Given the description of an element on the screen output the (x, y) to click on. 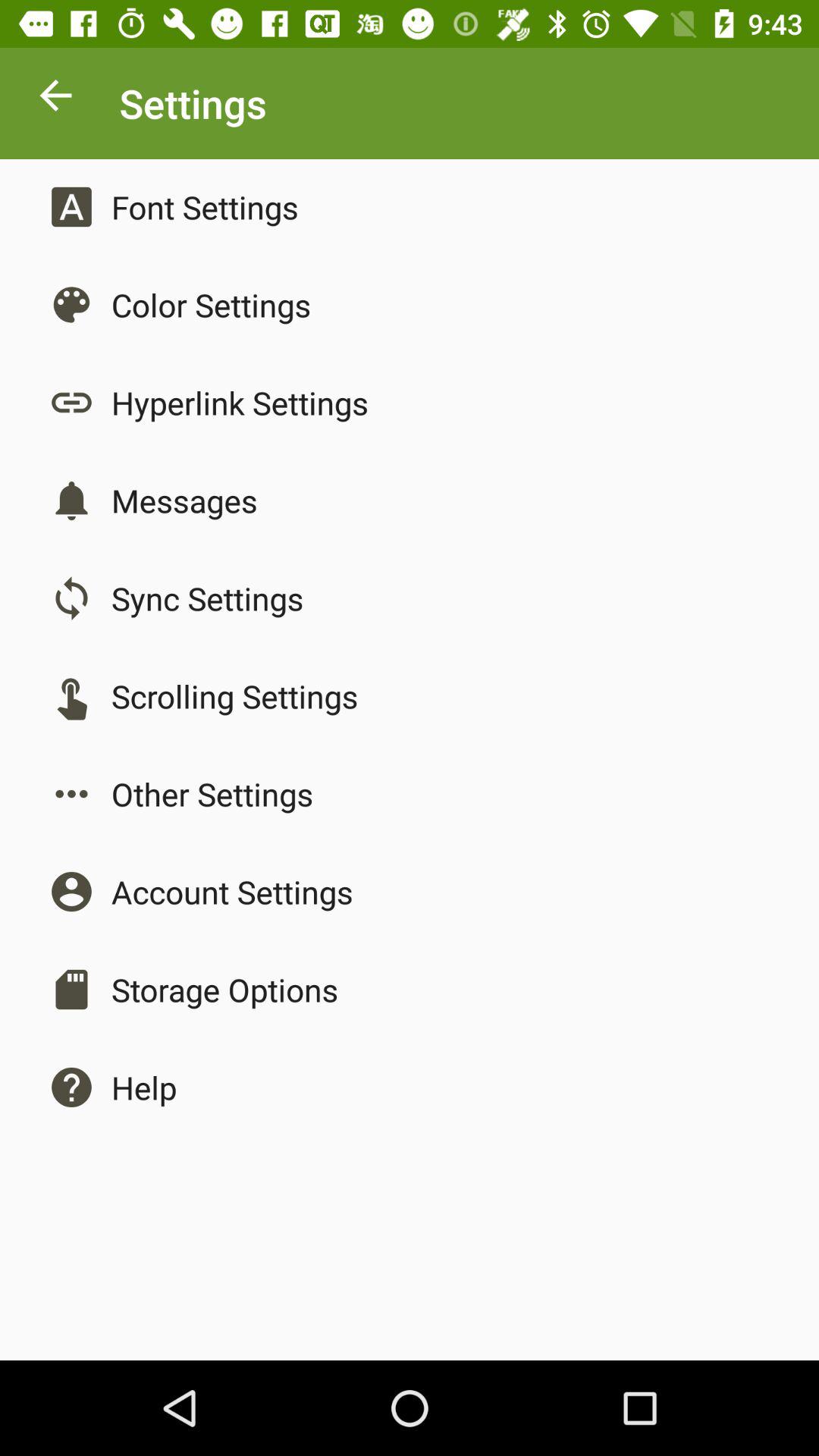
turn off the messages icon (184, 500)
